Given the description of an element on the screen output the (x, y) to click on. 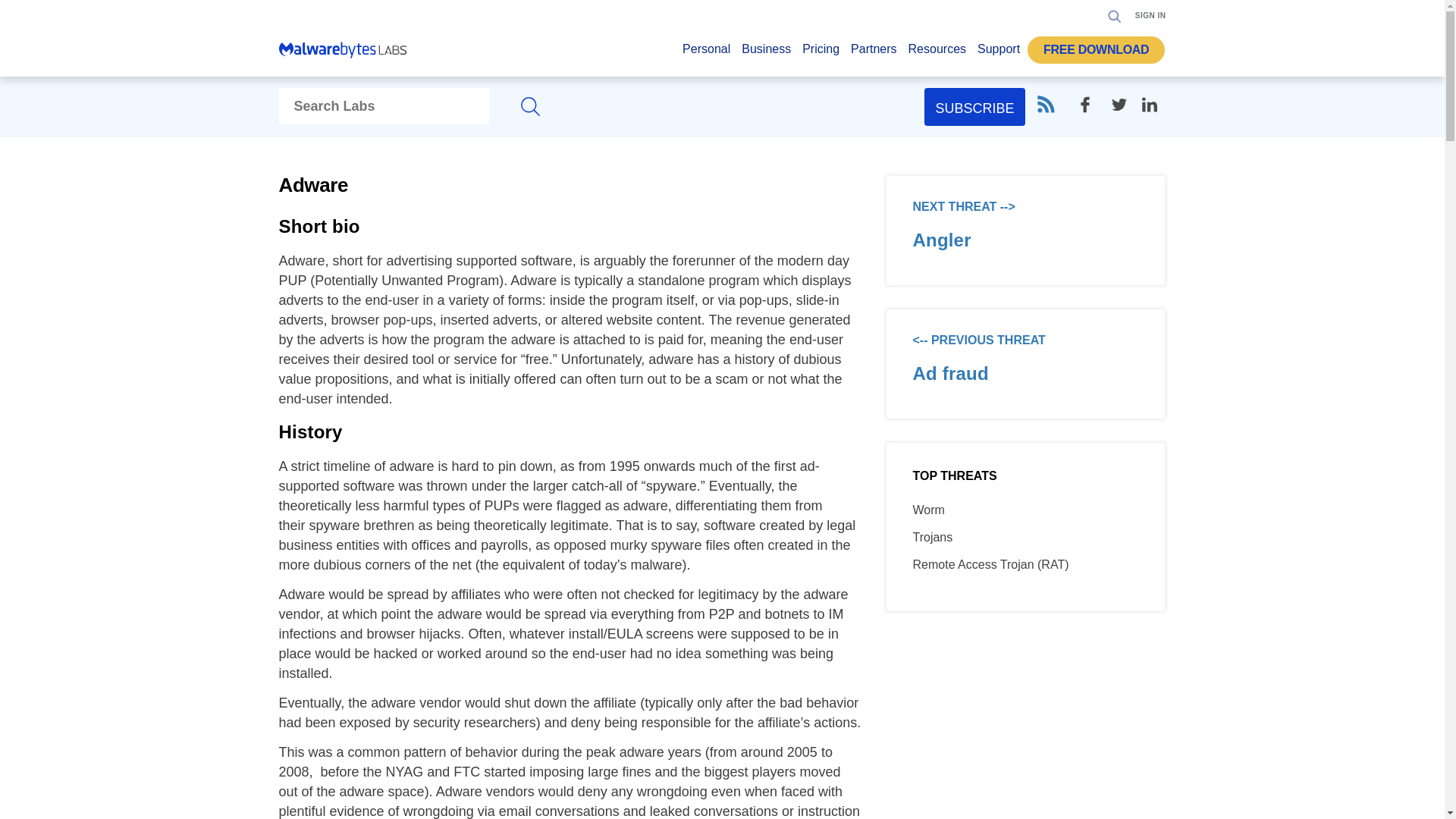
Search (1110, 62)
Personal (706, 52)
Search (1114, 15)
SIGN IN (1150, 15)
Business (765, 52)
rss (1044, 104)
